Given the description of an element on the screen output the (x, y) to click on. 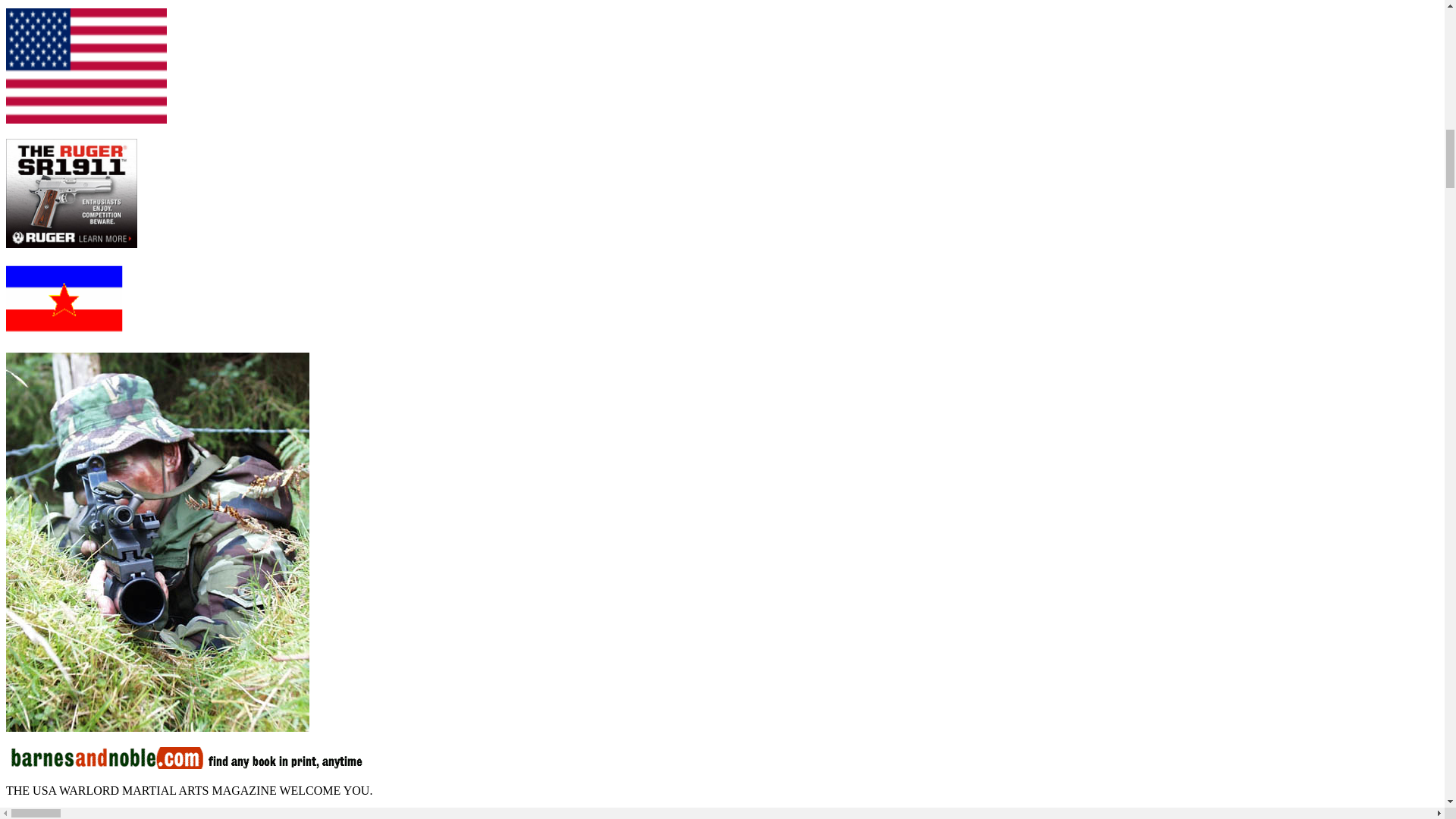
Heroes Myspace Comments (156, 727)
